Given the description of an element on the screen output the (x, y) to click on. 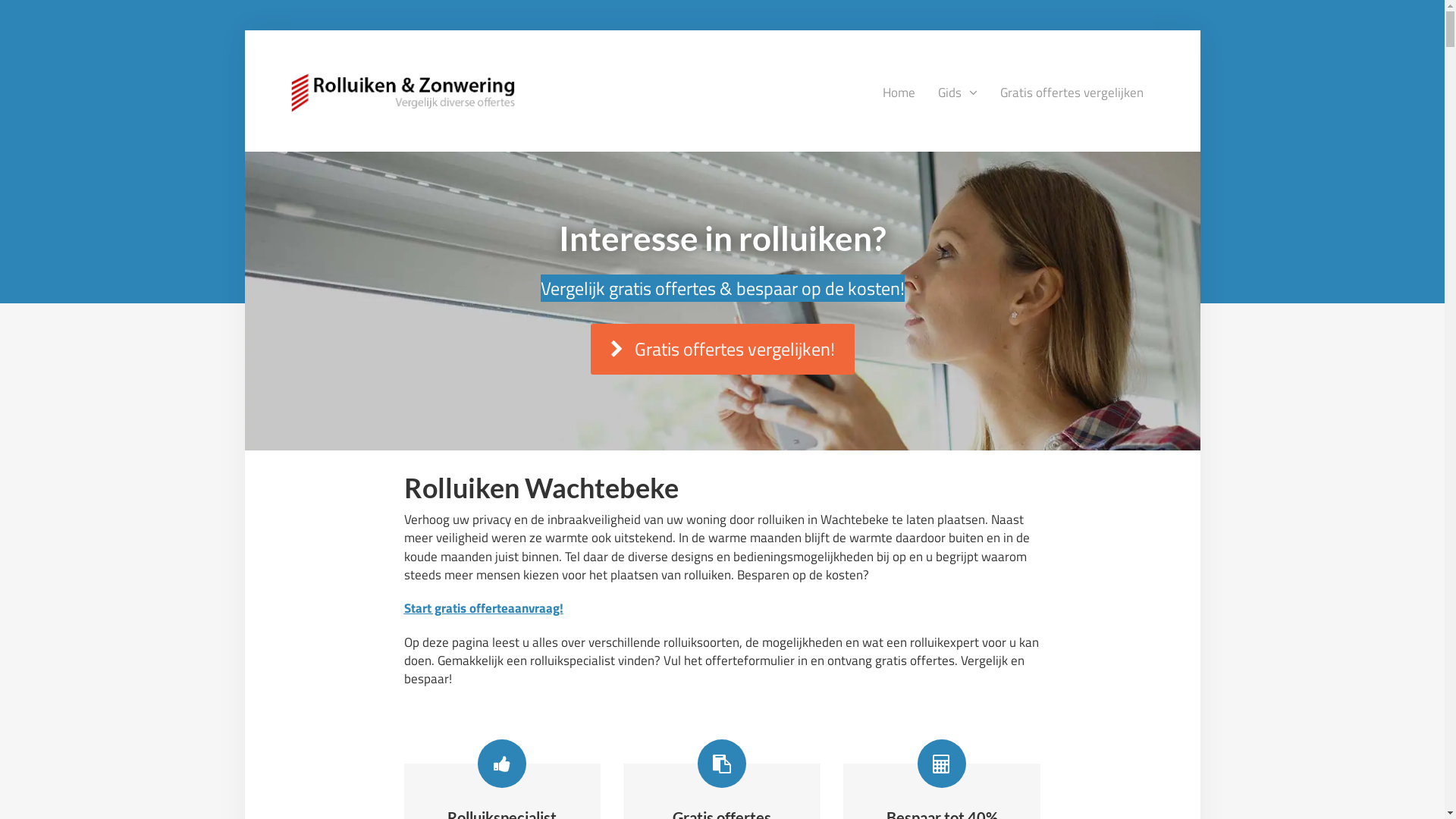
Start gratis offerteaanvraag! Element type: text (482, 608)
Gratis offertes vergelijken! Element type: text (721, 348)
Gids Element type: text (957, 92)
Home Element type: text (897, 92)
Gratis offertes vergelijken Element type: text (1071, 92)
Alu-stevens.be Element type: hover (403, 89)
